Given the description of an element on the screen output the (x, y) to click on. 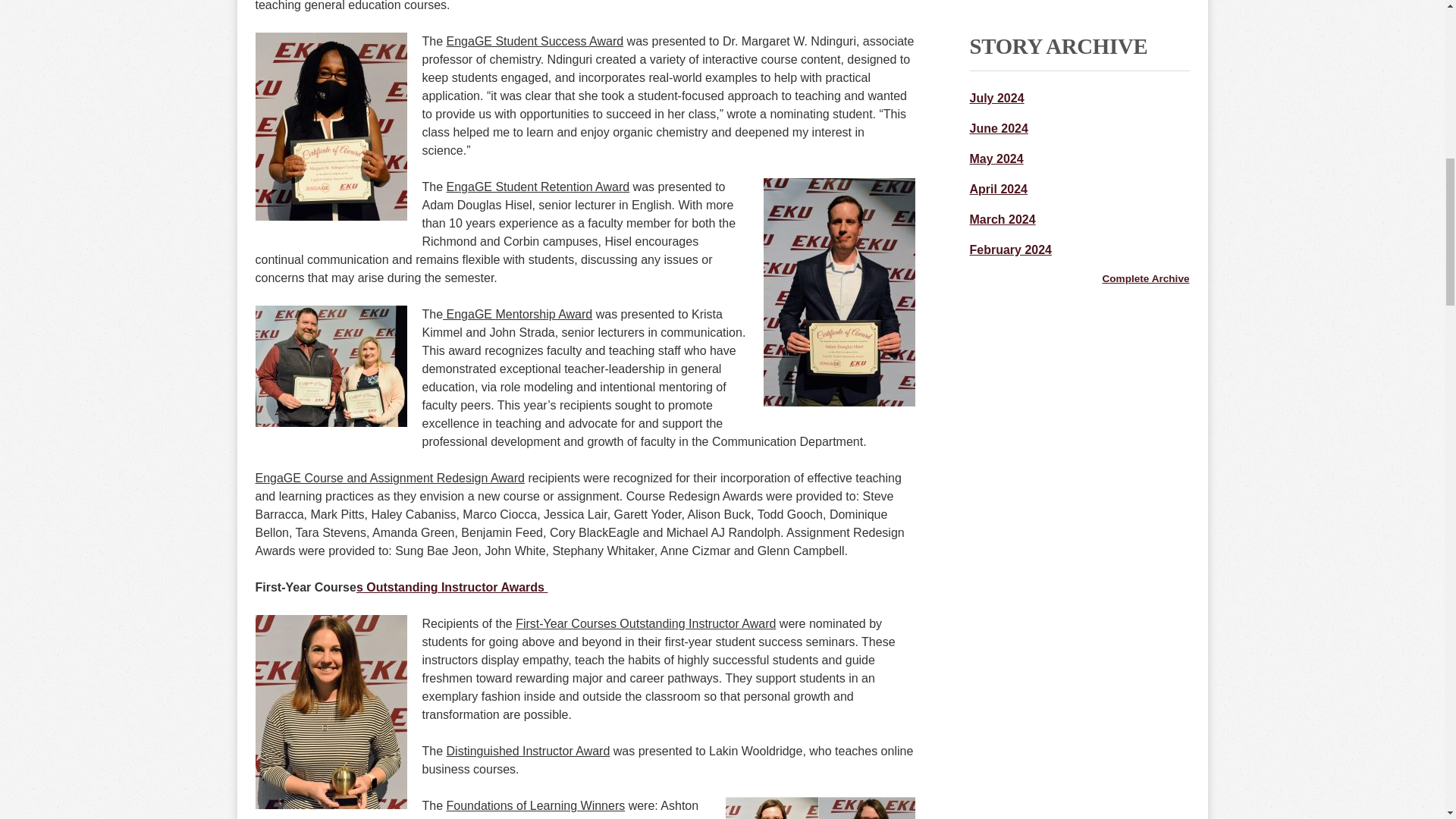
s Outstanding Instructor Awards  (451, 586)
